Given the description of an element on the screen output the (x, y) to click on. 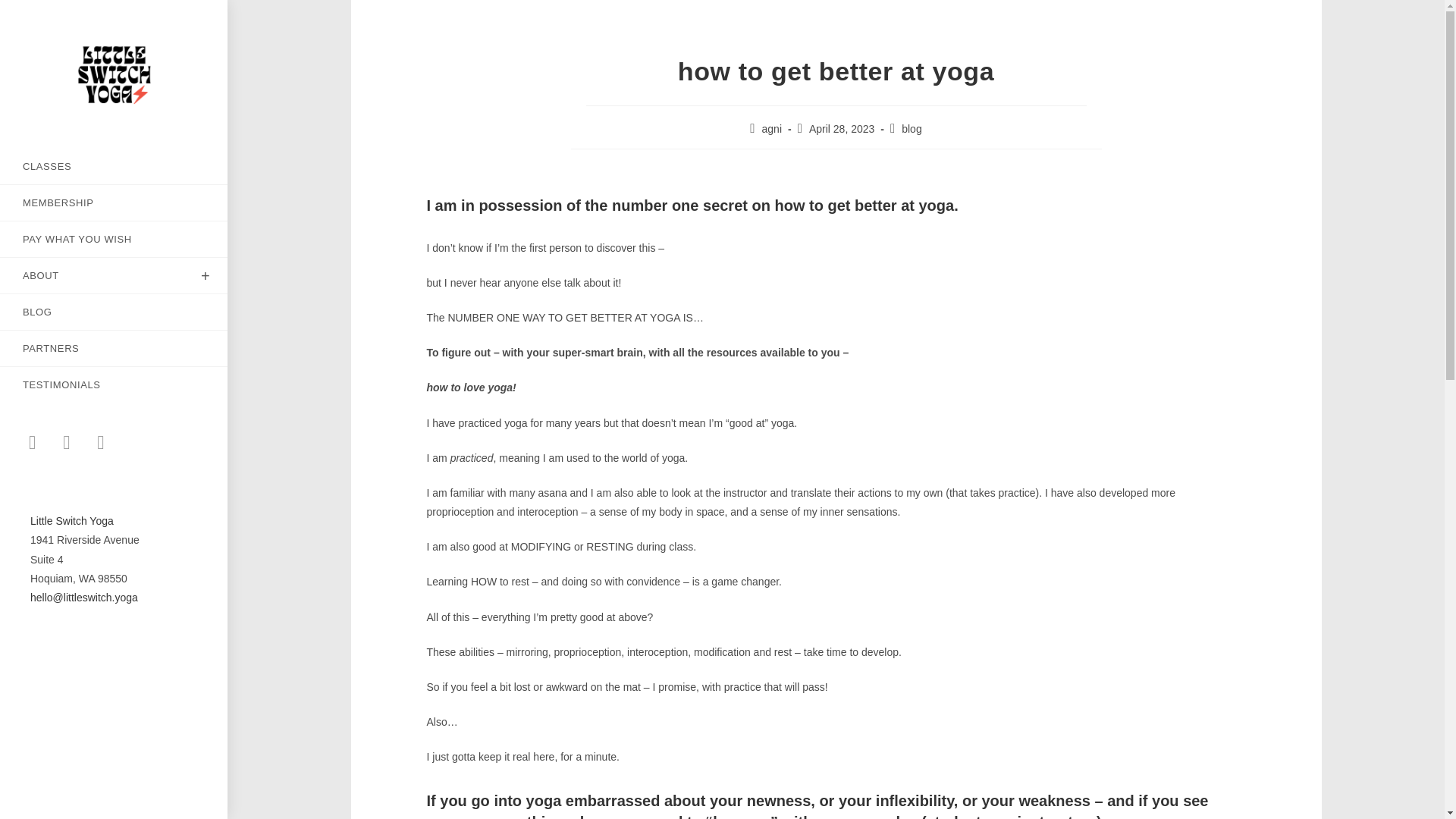
Little Switch Yoga (71, 521)
PARTNERS (113, 348)
BLOG (113, 312)
TESTIMONIALS (113, 384)
ABOUT (113, 275)
MEMBERSHIP (113, 202)
blog (911, 128)
PAY WHAT YOU WISH (113, 239)
CLASSES (113, 166)
agni (771, 128)
Posts by agni (771, 128)
